Given the description of an element on the screen output the (x, y) to click on. 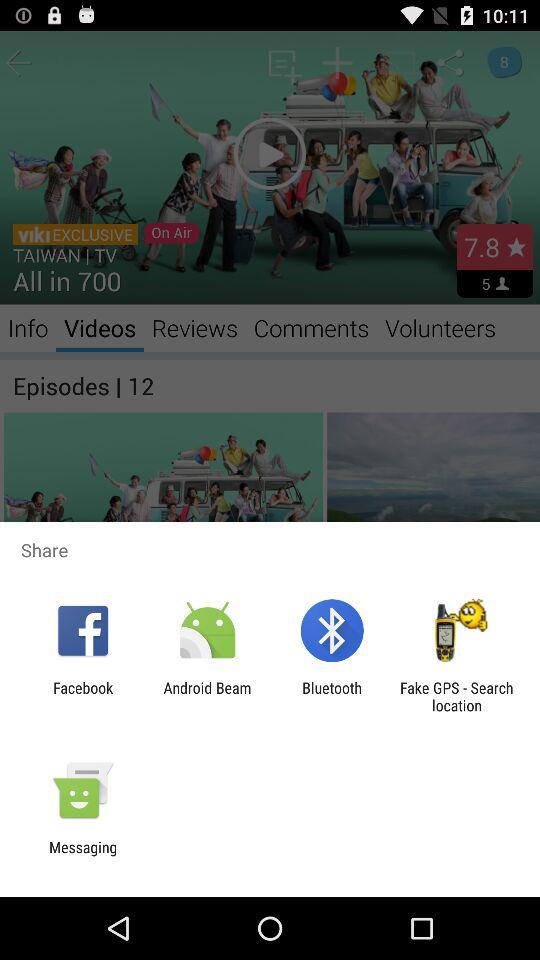
select the bluetooth app (331, 696)
